Given the description of an element on the screen output the (x, y) to click on. 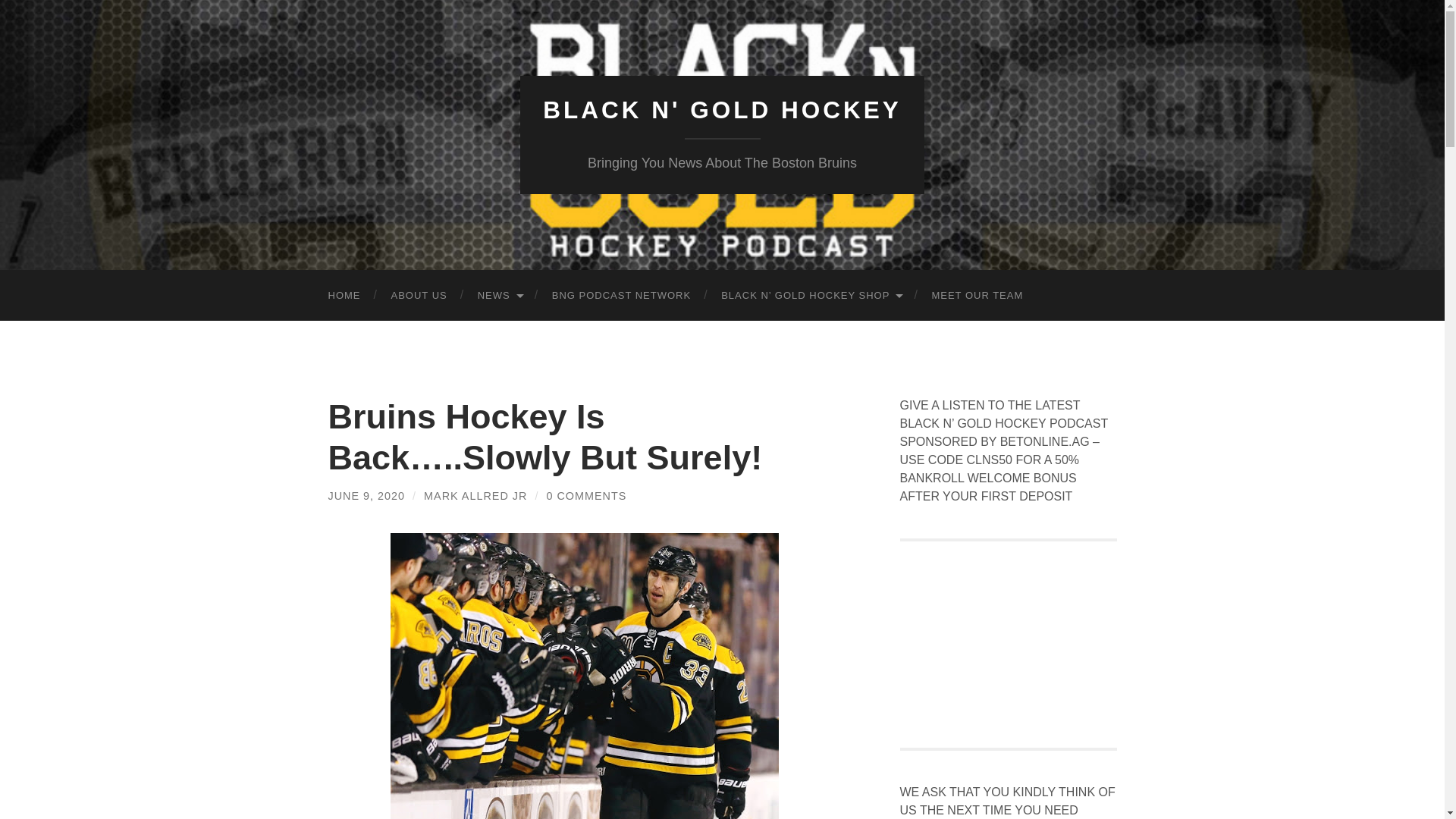
HOME (344, 295)
MARK ALLRED JR (475, 495)
BLACK N' GOLD HOCKEY (722, 109)
MEET OUR TEAM (976, 295)
BNG PODCAST NETWORK (621, 295)
JUNE 9, 2020 (365, 495)
0 COMMENTS (586, 495)
ABOUT US (419, 295)
NEWS (500, 295)
Posts by Mark Allred Jr (475, 495)
